Given the description of an element on the screen output the (x, y) to click on. 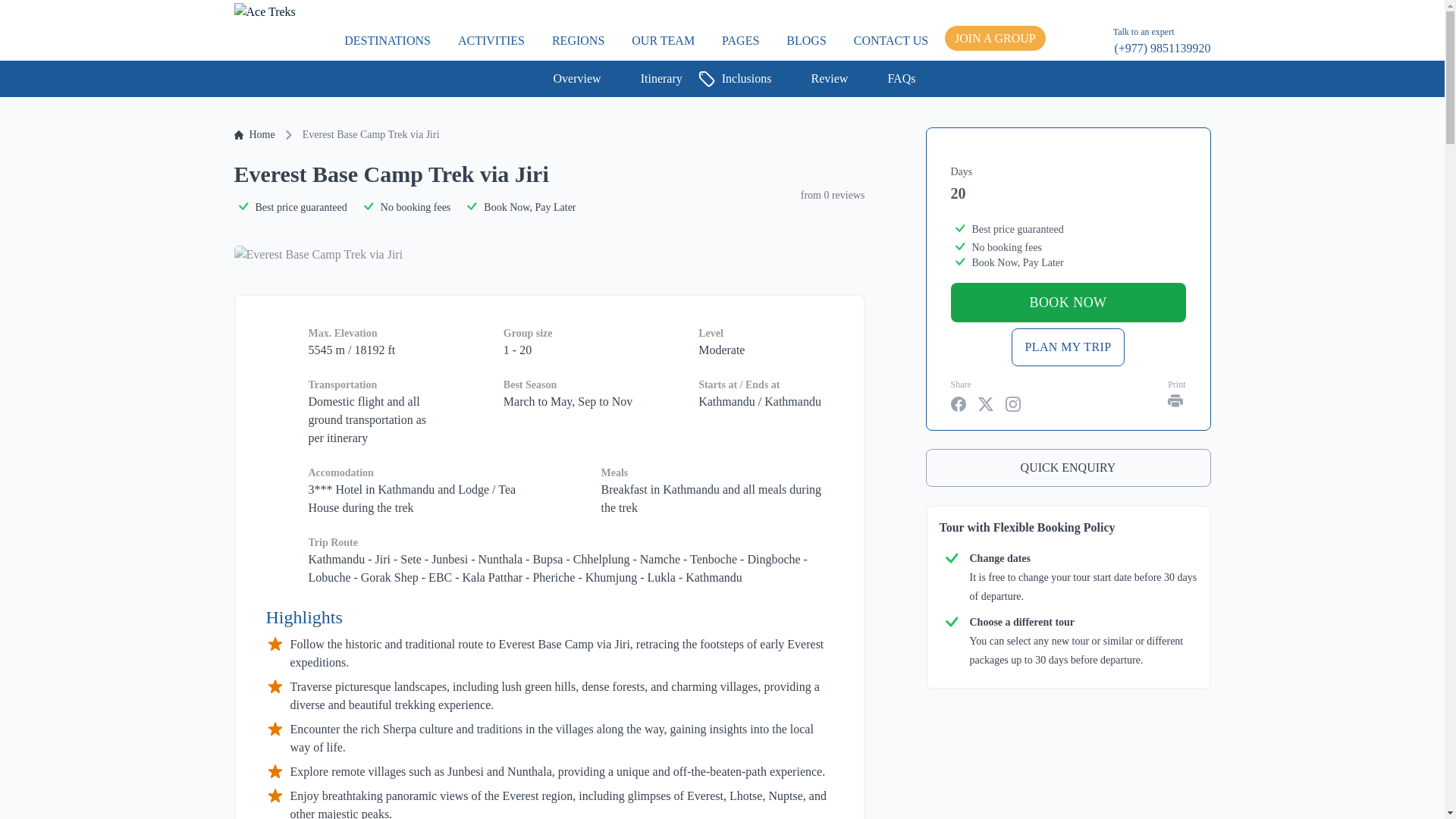
DESTINATIONS (387, 39)
